Given the description of an element on the screen output the (x, y) to click on. 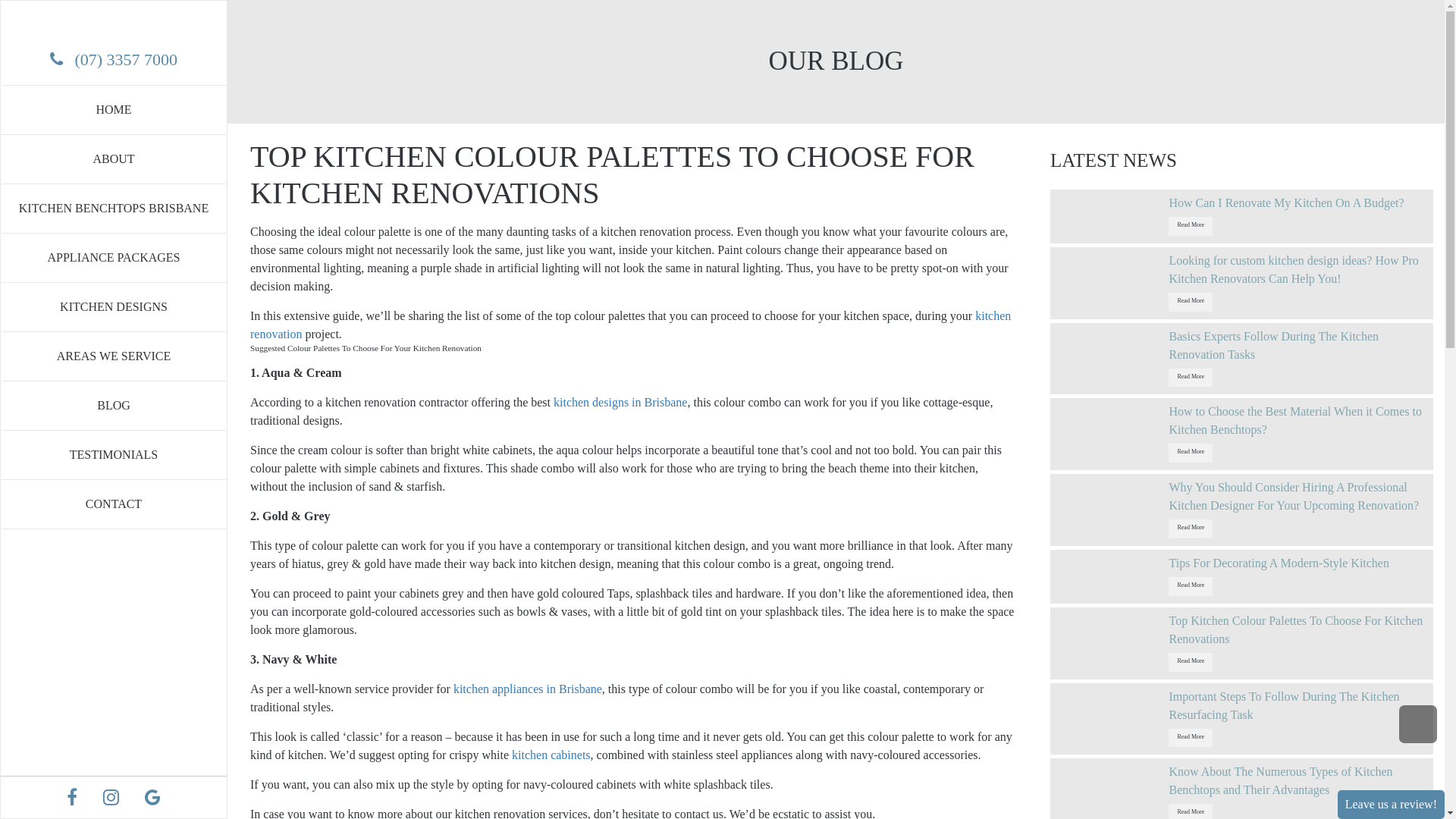
HOME Element type: text (113, 109)
ABOUT Element type: text (113, 158)
AREAS WE SERVICE Element type: text (113, 355)
kitchen cabinets Element type: text (550, 754)
TESTIMONIALS Element type: text (113, 454)
KITCHEN BENCHTOPS BRISBANE Element type: text (113, 207)
kitchen designs in Brisbane Element type: text (620, 401)
KITCHEN DESIGNS Element type: text (113, 306)
CONTACT Element type: text (113, 504)
APPLIANCE PACKAGES Element type: text (113, 257)
(07) 3357 7000 Element type: text (125, 59)
kitchen renovation Element type: text (630, 324)
kitchen appliances in Brisbane Element type: text (527, 688)
BLOG Element type: text (113, 404)
